Given the description of an element on the screen output the (x, y) to click on. 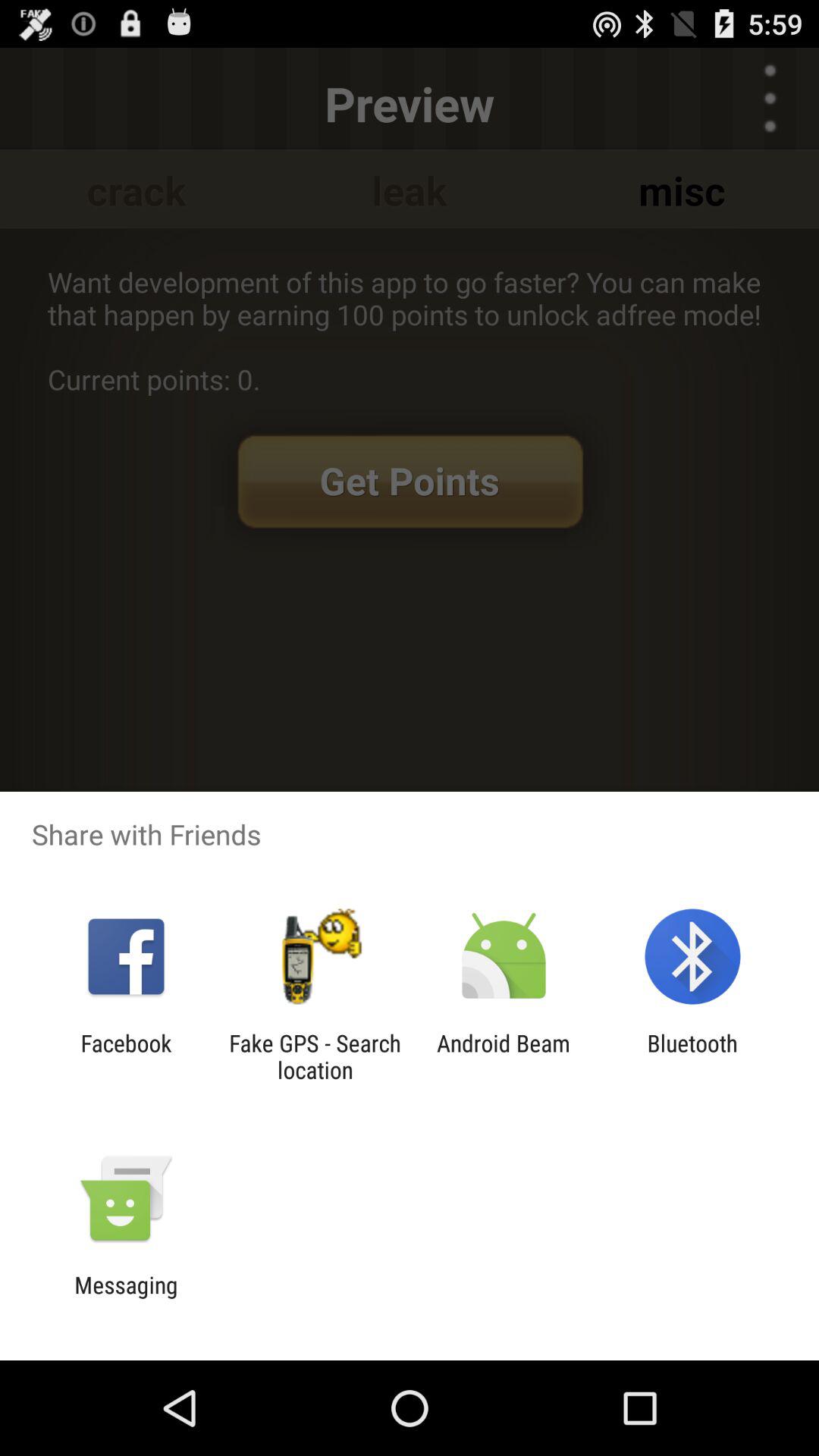
swipe to the messaging item (126, 1298)
